Given the description of an element on the screen output the (x, y) to click on. 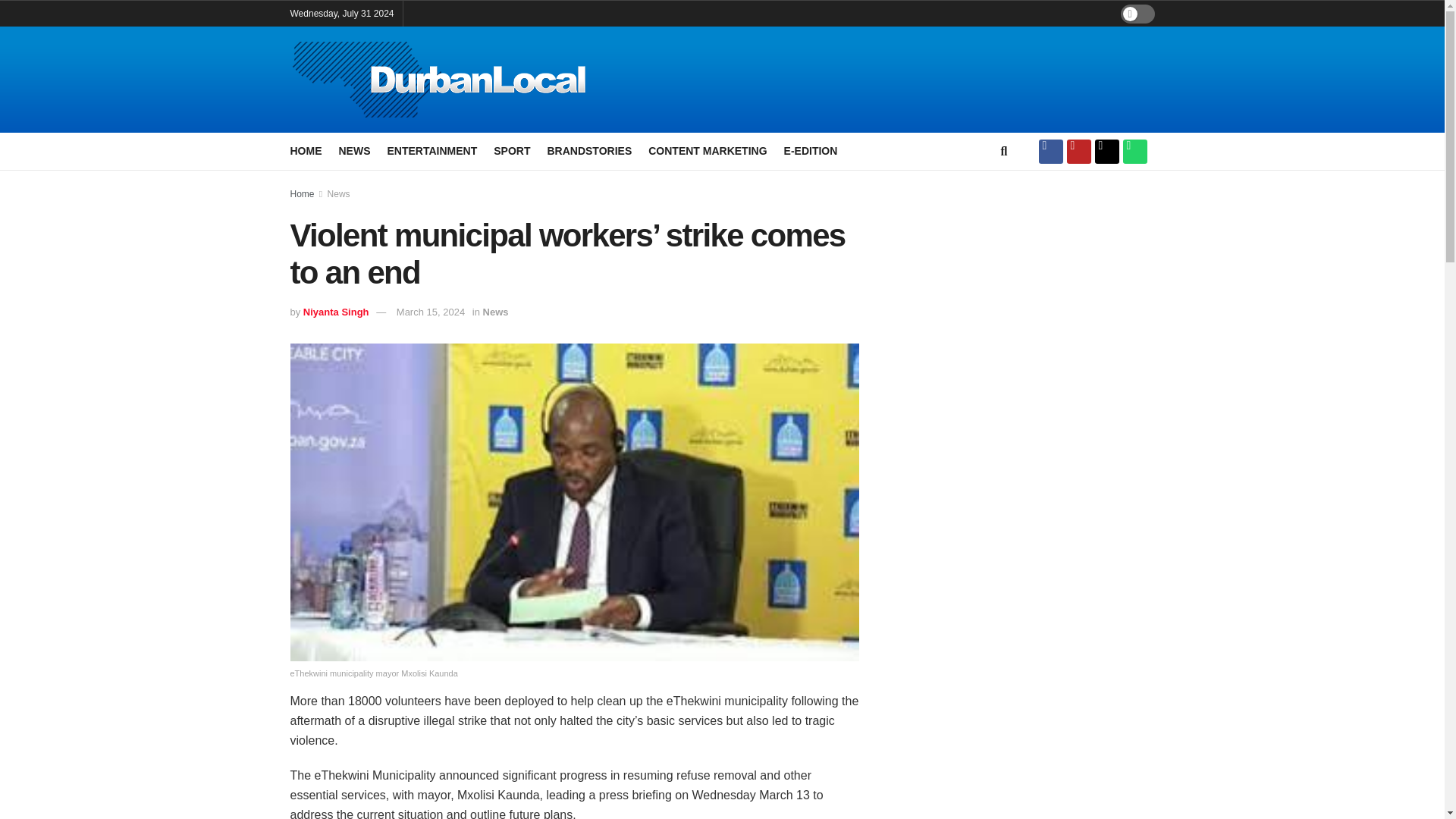
CONTENT MARKETING (707, 150)
E-EDITION (811, 150)
HOME (305, 150)
ENTERTAINMENT (432, 150)
March 15, 2024 (430, 311)
3rd party ad content (1023, 294)
Home (301, 194)
SPORT (511, 150)
News (338, 194)
NEWS (353, 150)
Niyanta Singh (335, 311)
BRANDSTORIES (589, 150)
News (495, 311)
